Given the description of an element on the screen output the (x, y) to click on. 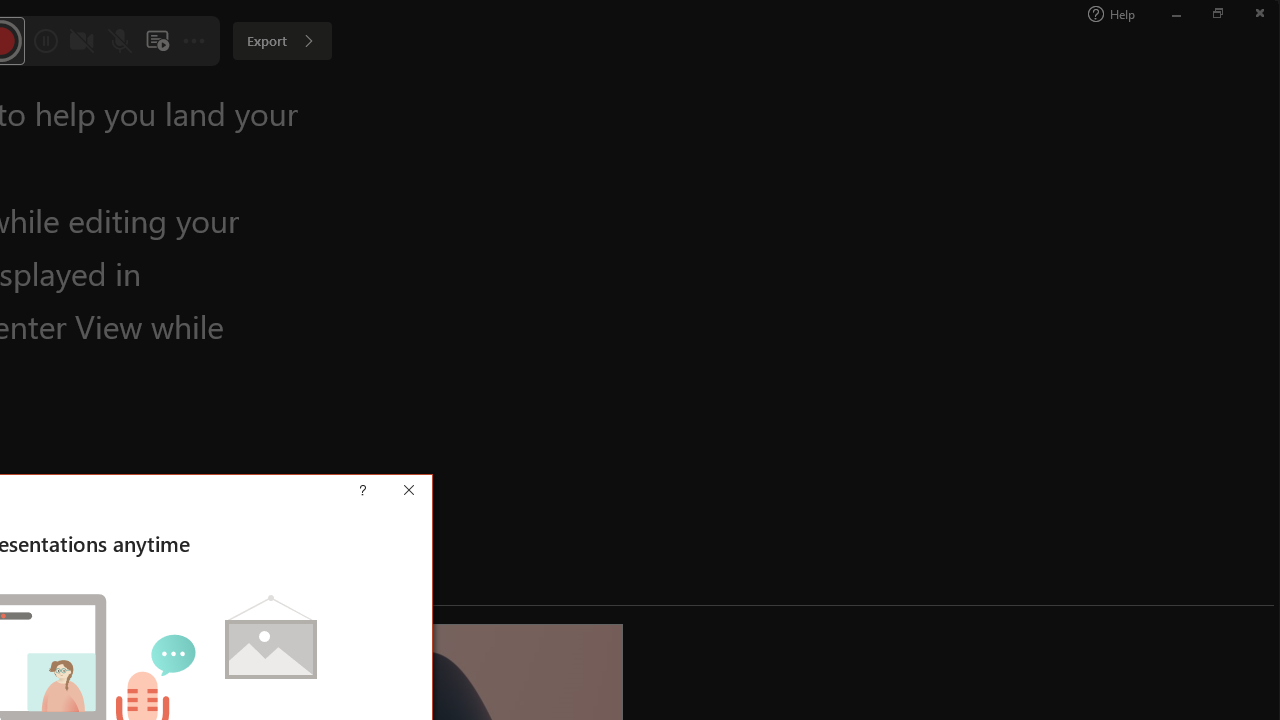
Droplet (358, 100)
Dividend (265, 100)
AutomationID: ThemeVariantsGallery (822, 99)
Themes (598, 120)
Damask (171, 100)
Slide Size (1056, 102)
Context help (392, 492)
